Given the description of an element on the screen output the (x, y) to click on. 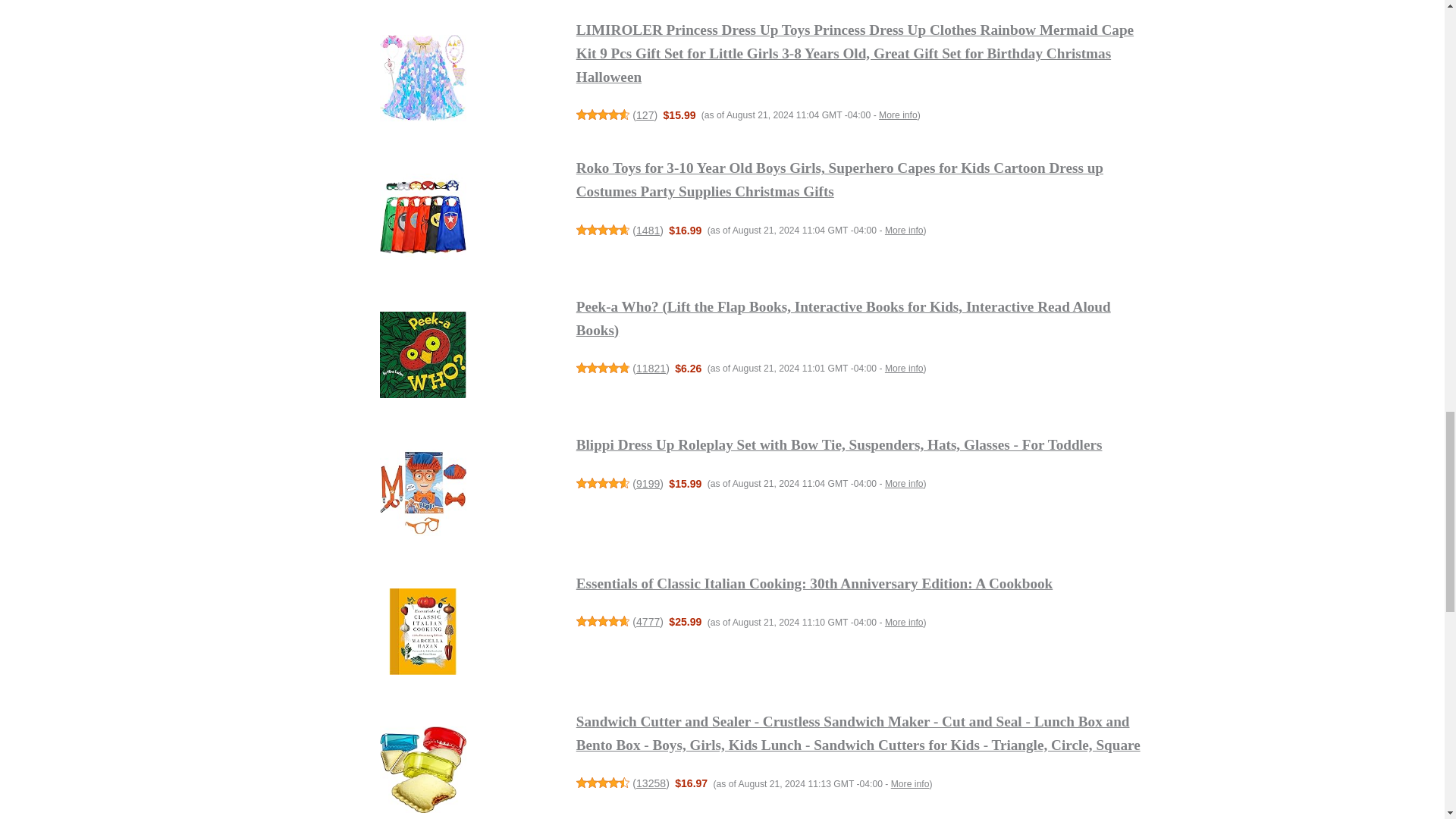
More info (904, 368)
127 (644, 114)
9199 (647, 483)
More info (904, 483)
4777 (647, 621)
